Given the description of an element on the screen output the (x, y) to click on. 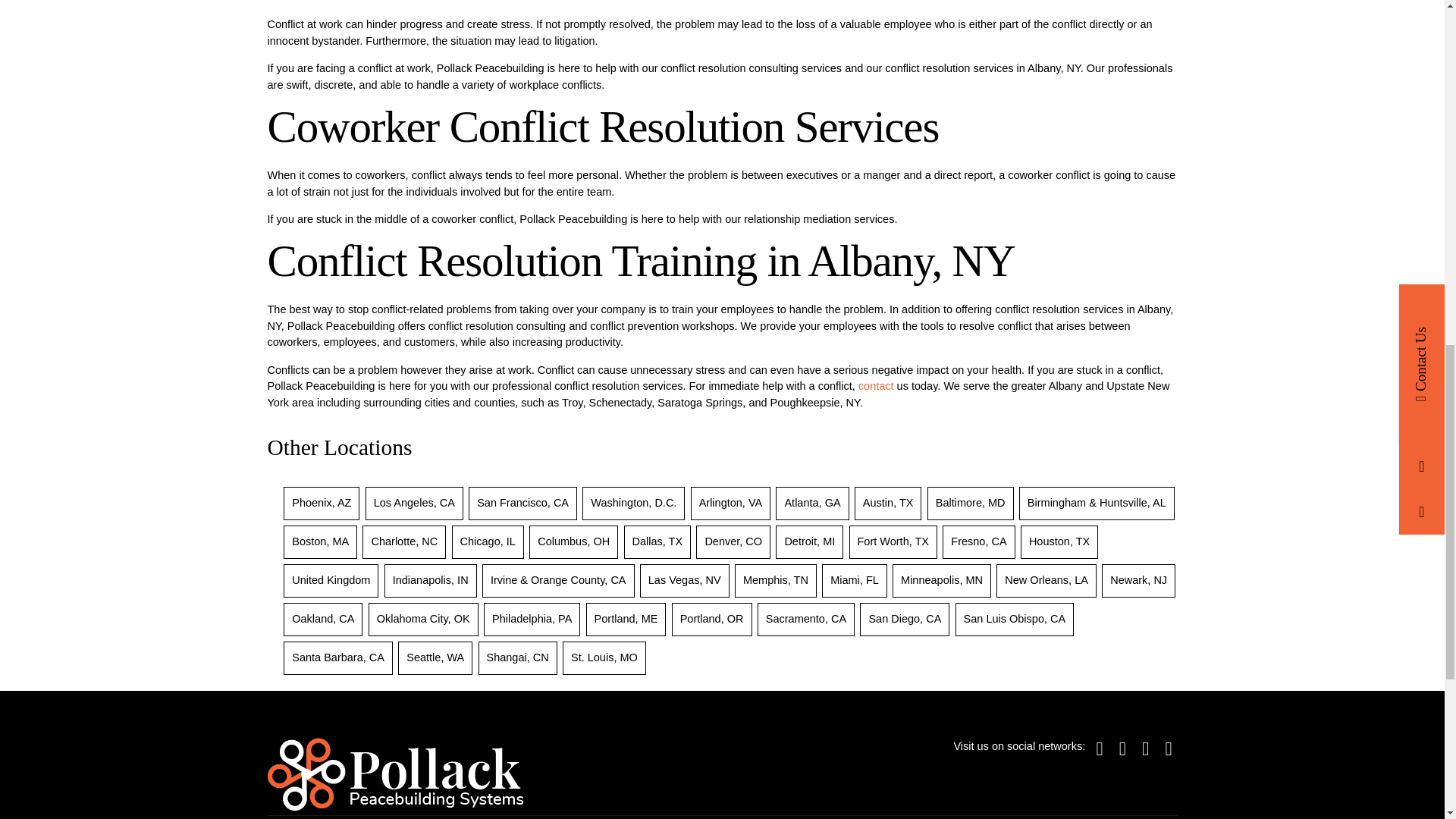
San Francisco, CA (523, 502)
Washington, D.C. (634, 502)
Los Angeles, CA (414, 502)
Arlington, VA (730, 502)
Baltimore, MD (971, 502)
Atlanta, GA (812, 502)
Austin, TX (888, 502)
Phoenix, AZ (321, 502)
